Given the description of an element on the screen output the (x, y) to click on. 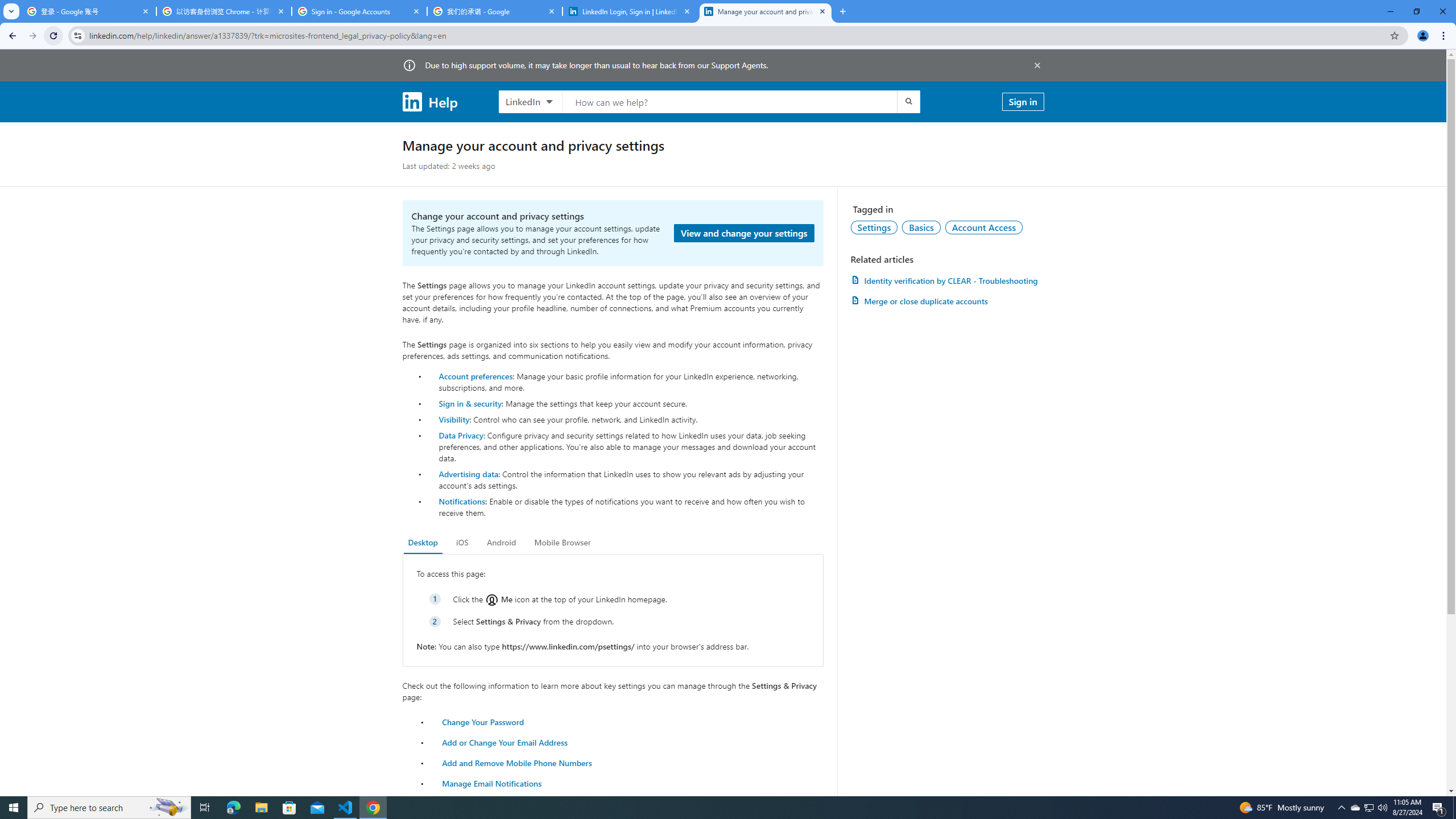
Desktop (422, 542)
Android (501, 542)
Account preferences (475, 375)
